Given the description of an element on the screen output the (x, y) to click on. 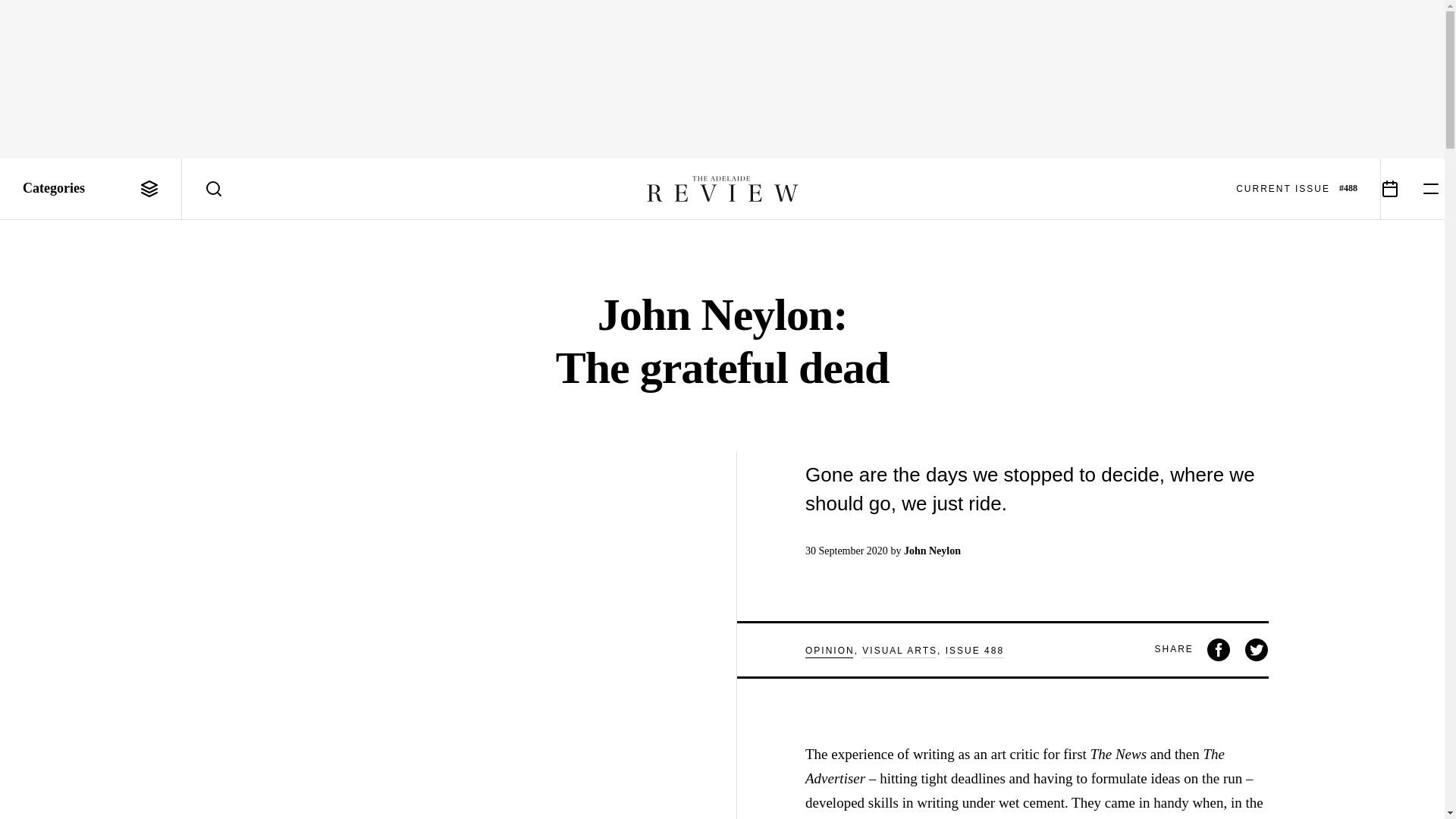
Categories (91, 188)
